Given the description of an element on the screen output the (x, y) to click on. 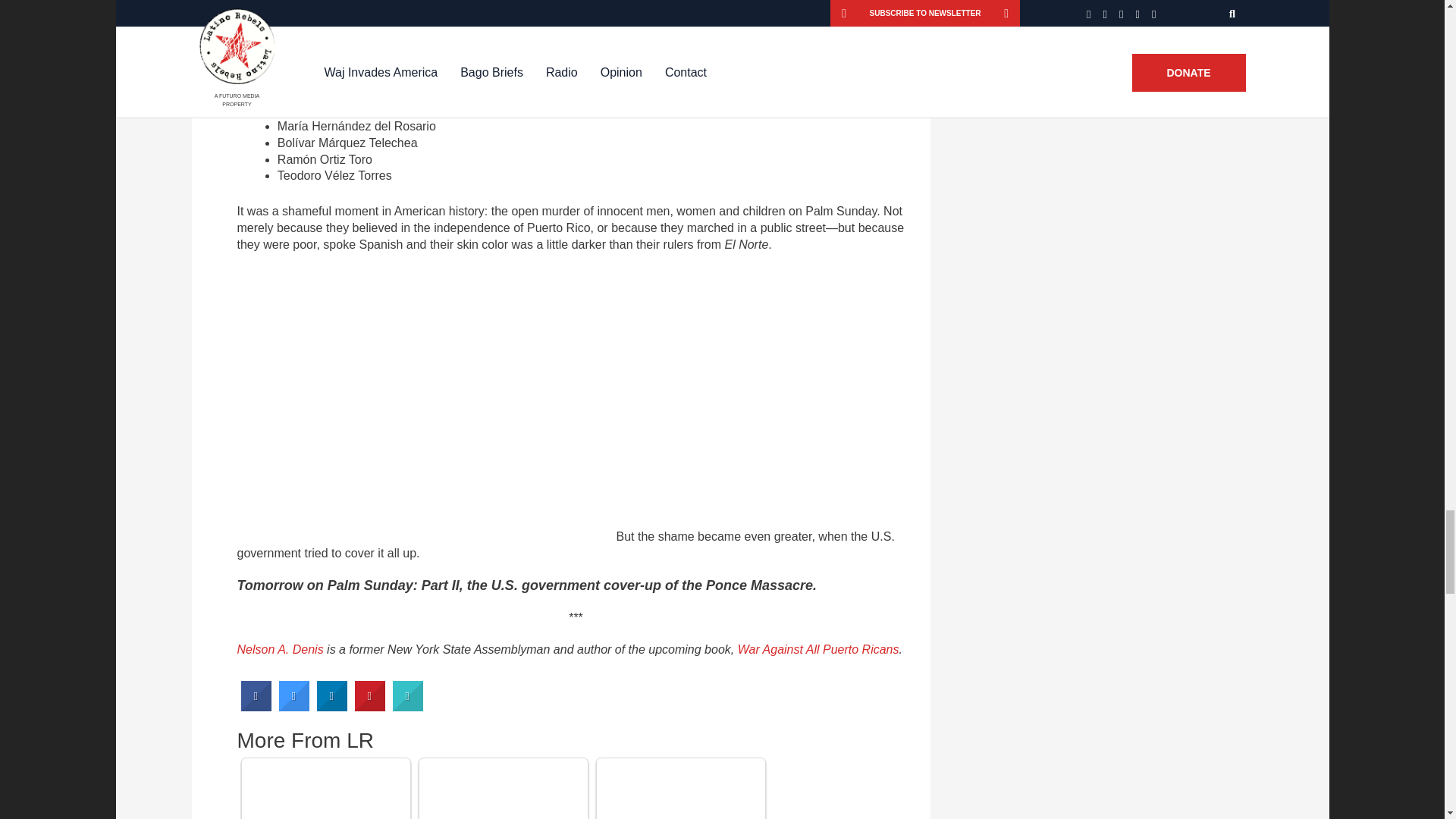
Share on Facebook (255, 707)
Share to LinkedIn (332, 707)
Share on Twitter (293, 707)
Nelson A. Denis (279, 649)
Print this page (408, 707)
War Against All Puerto Ricans (818, 649)
Amazon (818, 649)
Share on Pinterest (370, 707)
Nelson (279, 649)
Hotel Workers in LA Hold Strike, Demand Living Wage (325, 790)
Hotel Workers Strike Back (502, 790)
